Given the description of an element on the screen output the (x, y) to click on. 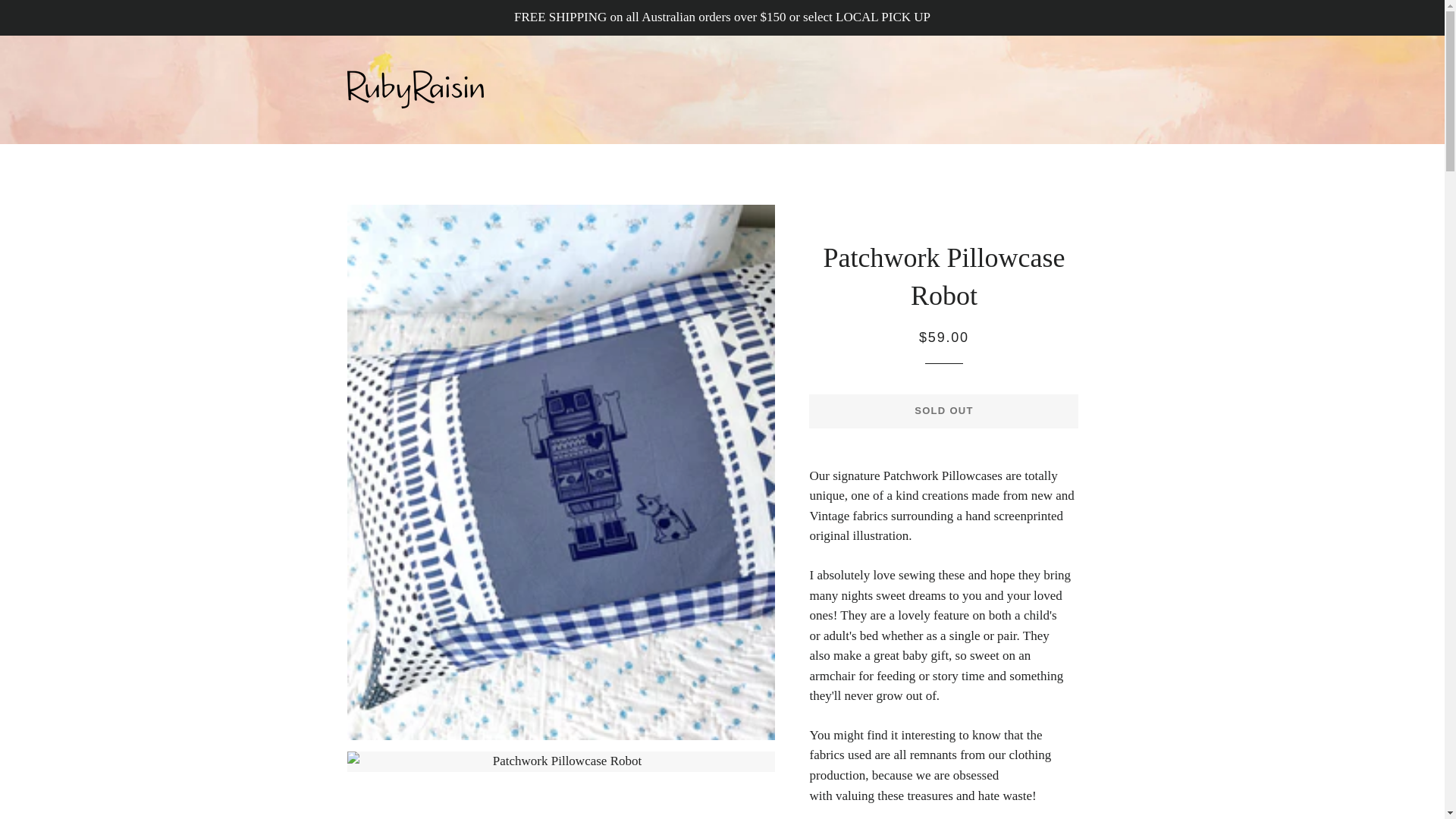
SOLD OUT (943, 410)
